Given the description of an element on the screen output the (x, y) to click on. 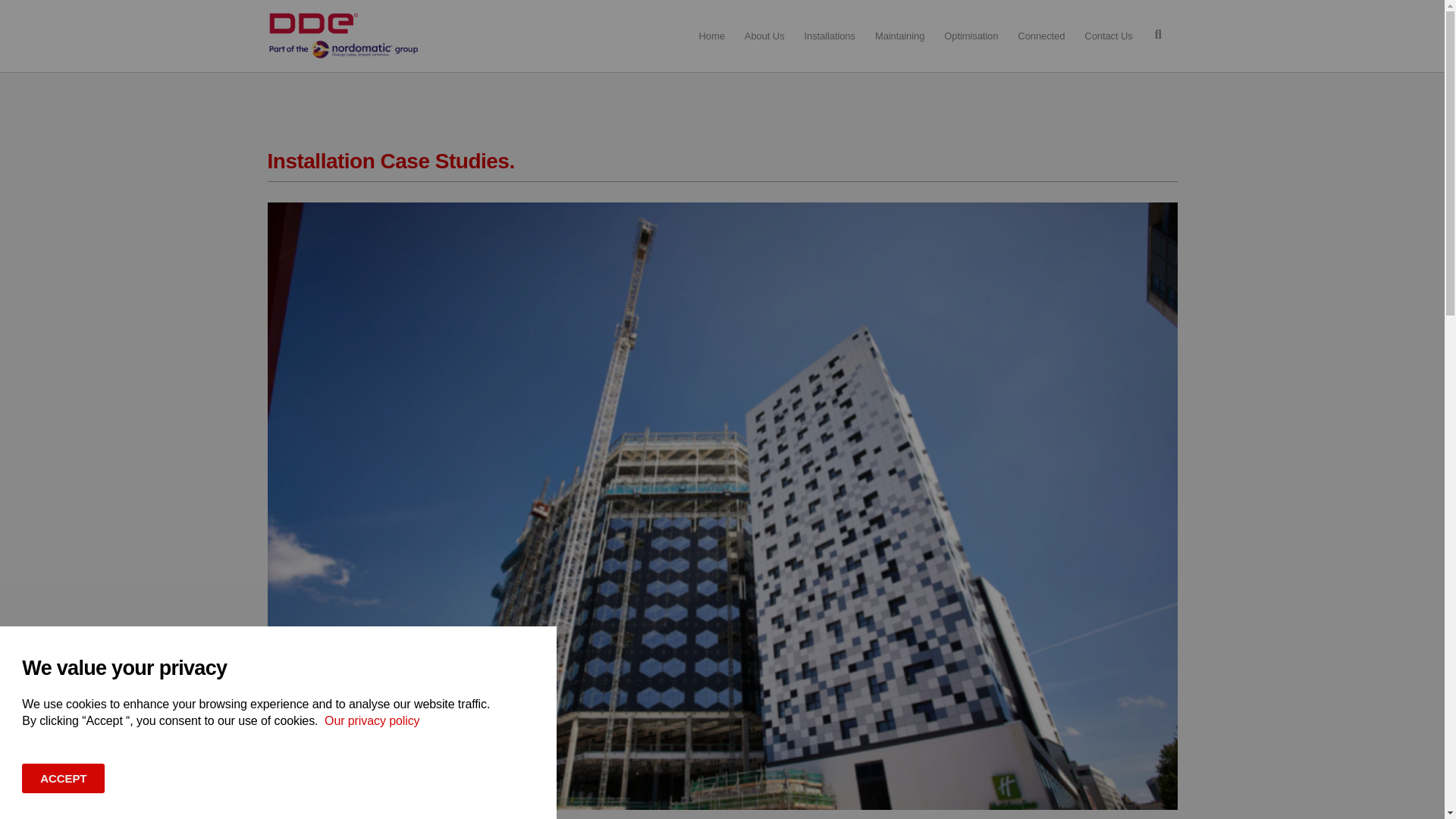
Maintaining (899, 35)
Contact Us (1107, 35)
Home (711, 35)
About Us (764, 35)
Connected (1040, 35)
Optimisation (970, 35)
Installations (829, 35)
